Given the description of an element on the screen output the (x, y) to click on. 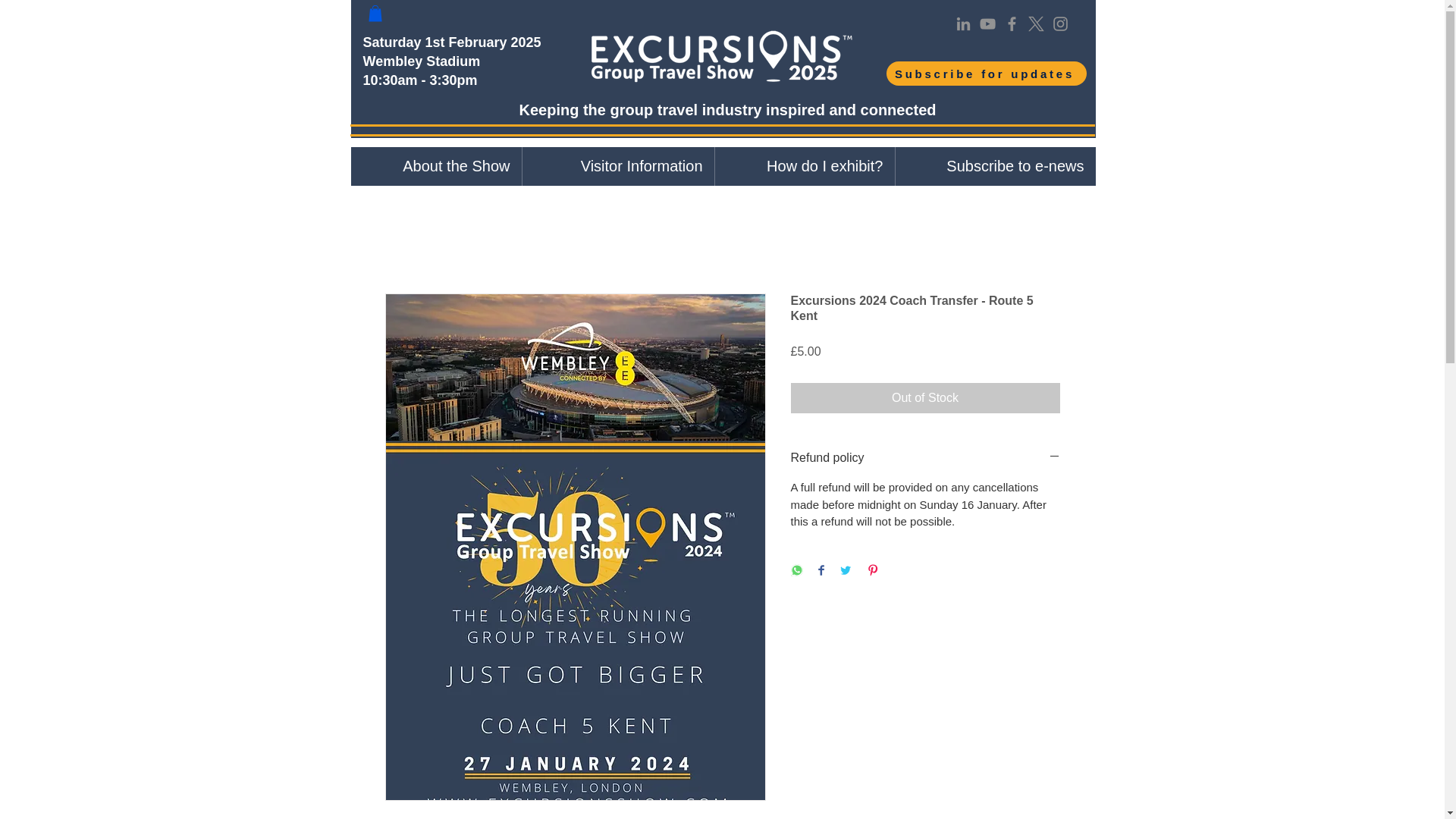
Visitor Information (617, 166)
About the Show (435, 166)
Subscribe to e-news (995, 166)
Out of Stock (924, 398)
Subscribe for updates (985, 73)
Refund policy (924, 457)
How do I exhibit? (804, 166)
